Given the description of an element on the screen output the (x, y) to click on. 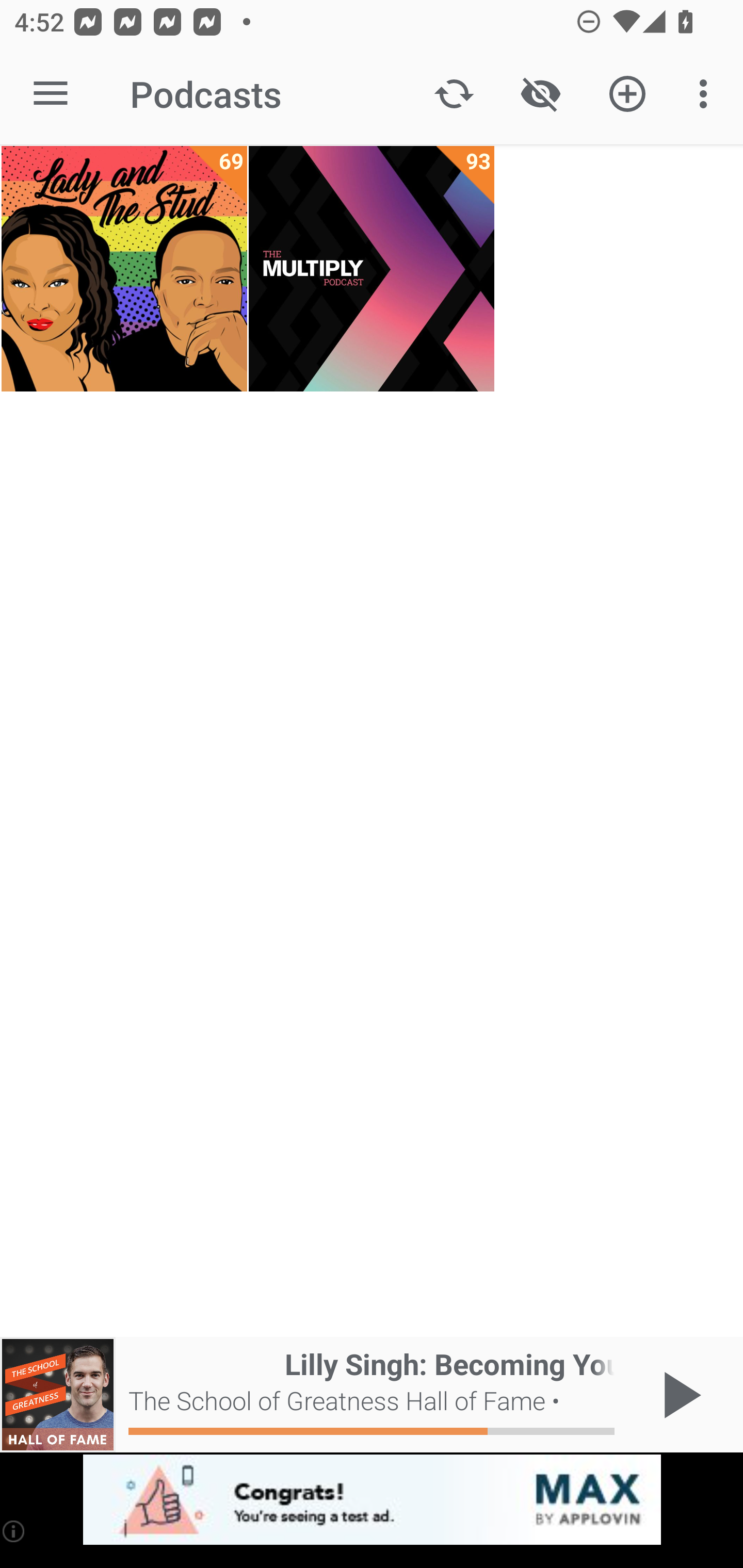
Open navigation sidebar (50, 93)
Update (453, 93)
Show / Hide played content (540, 93)
Add new Podcast (626, 93)
More options (706, 93)
Lady and The Stud 69 (124, 268)
The Multiply Podcast 93 (371, 268)
Play / Pause (677, 1394)
app-monetization (371, 1500)
(i) (14, 1531)
